Given the description of an element on the screen output the (x, y) to click on. 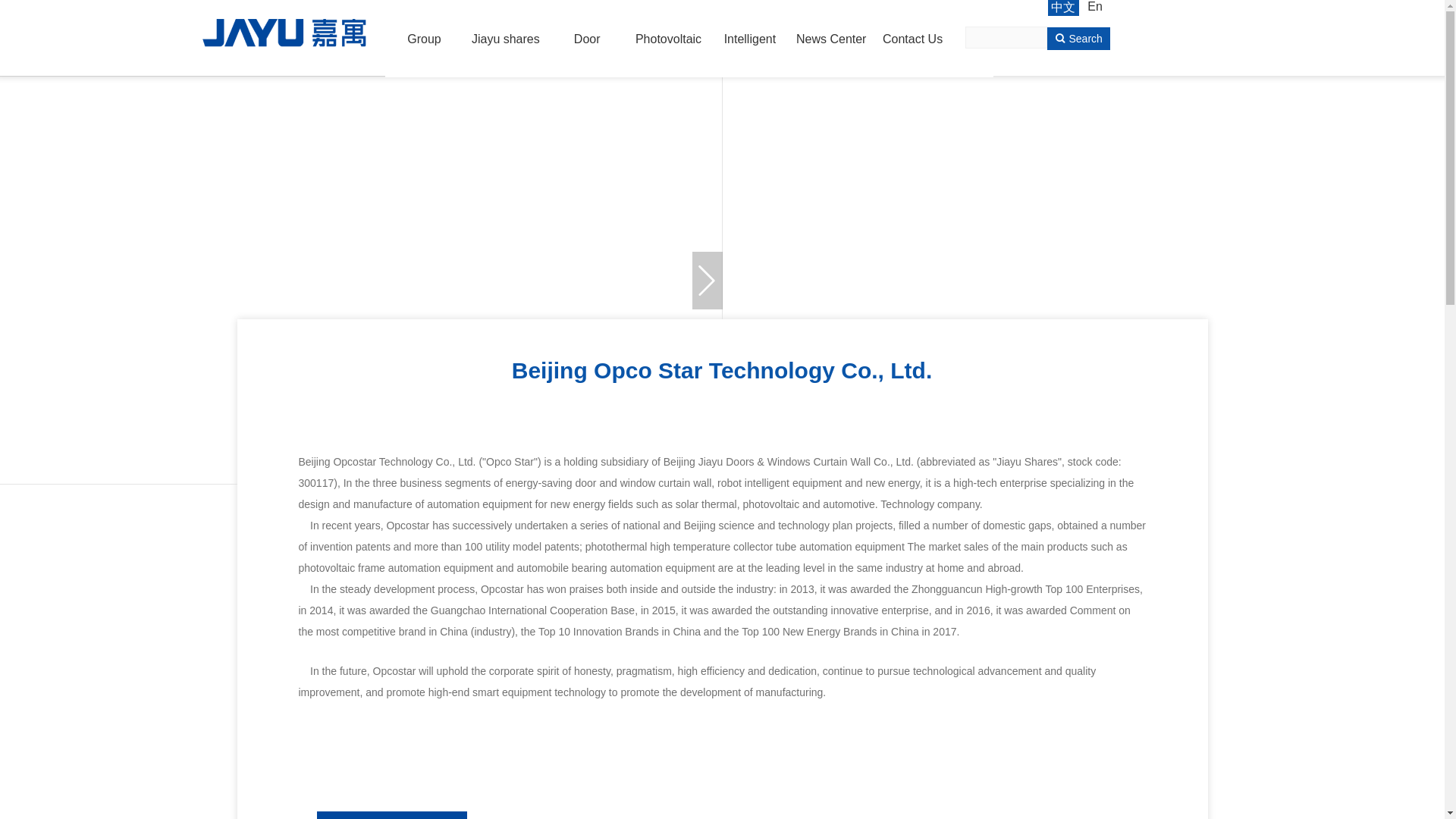
Jiayu shares (505, 38)
Group (424, 38)
Door (586, 38)
Photovoltaic (667, 38)
En (1095, 7)
Intelligent (749, 38)
Contact Us (912, 38)
News Center (831, 38)
